Given the description of an element on the screen output the (x, y) to click on. 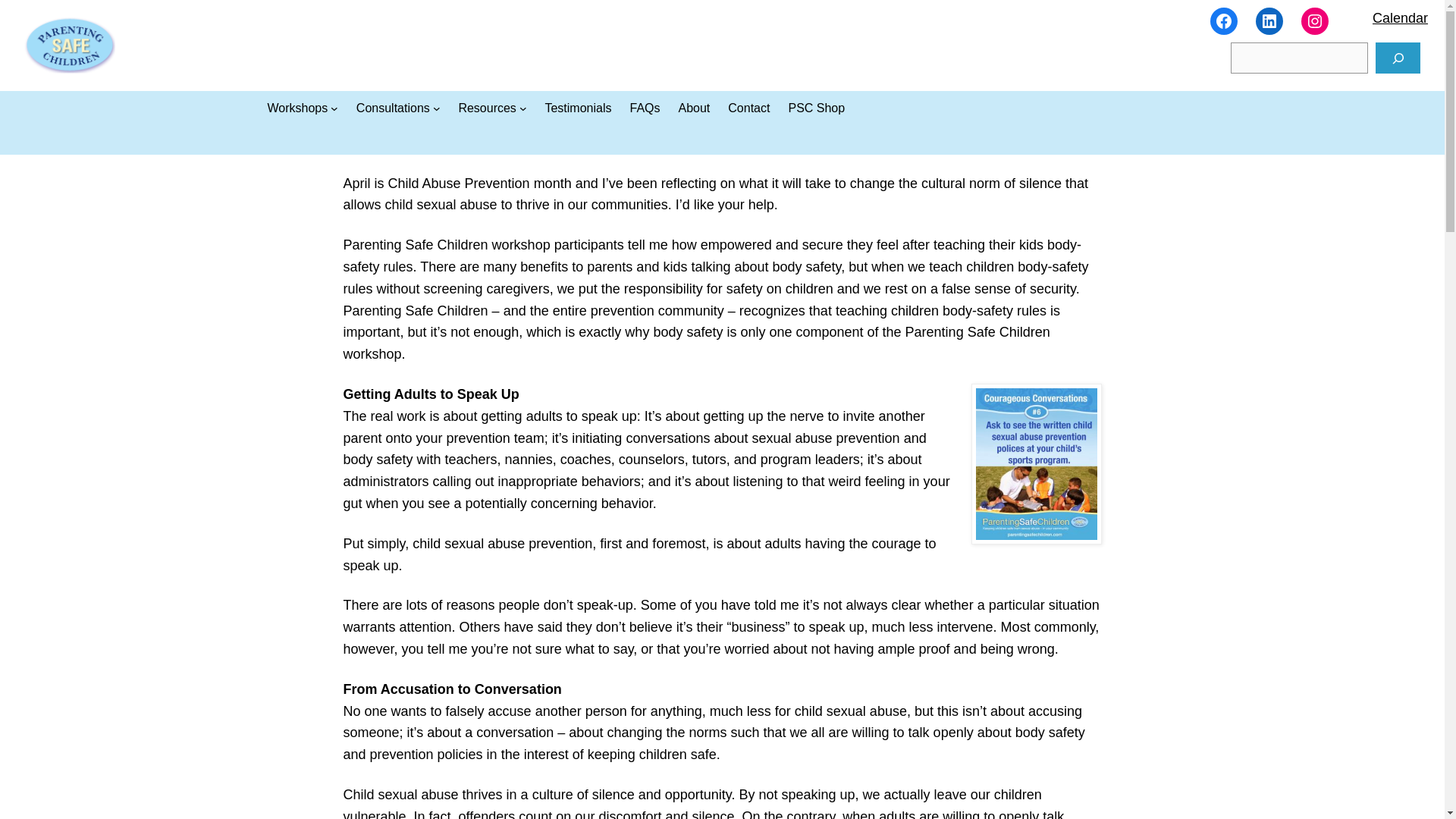
FAQs (643, 107)
About (694, 107)
Instagram (1314, 21)
Resources (486, 107)
PSC Shop (815, 107)
Calendar (1400, 17)
Facebook (1223, 21)
Workshops (296, 107)
Consultations (392, 107)
Testimonials (577, 107)
LinkedIn (1268, 21)
Contact (749, 107)
